Given the description of an element on the screen output the (x, y) to click on. 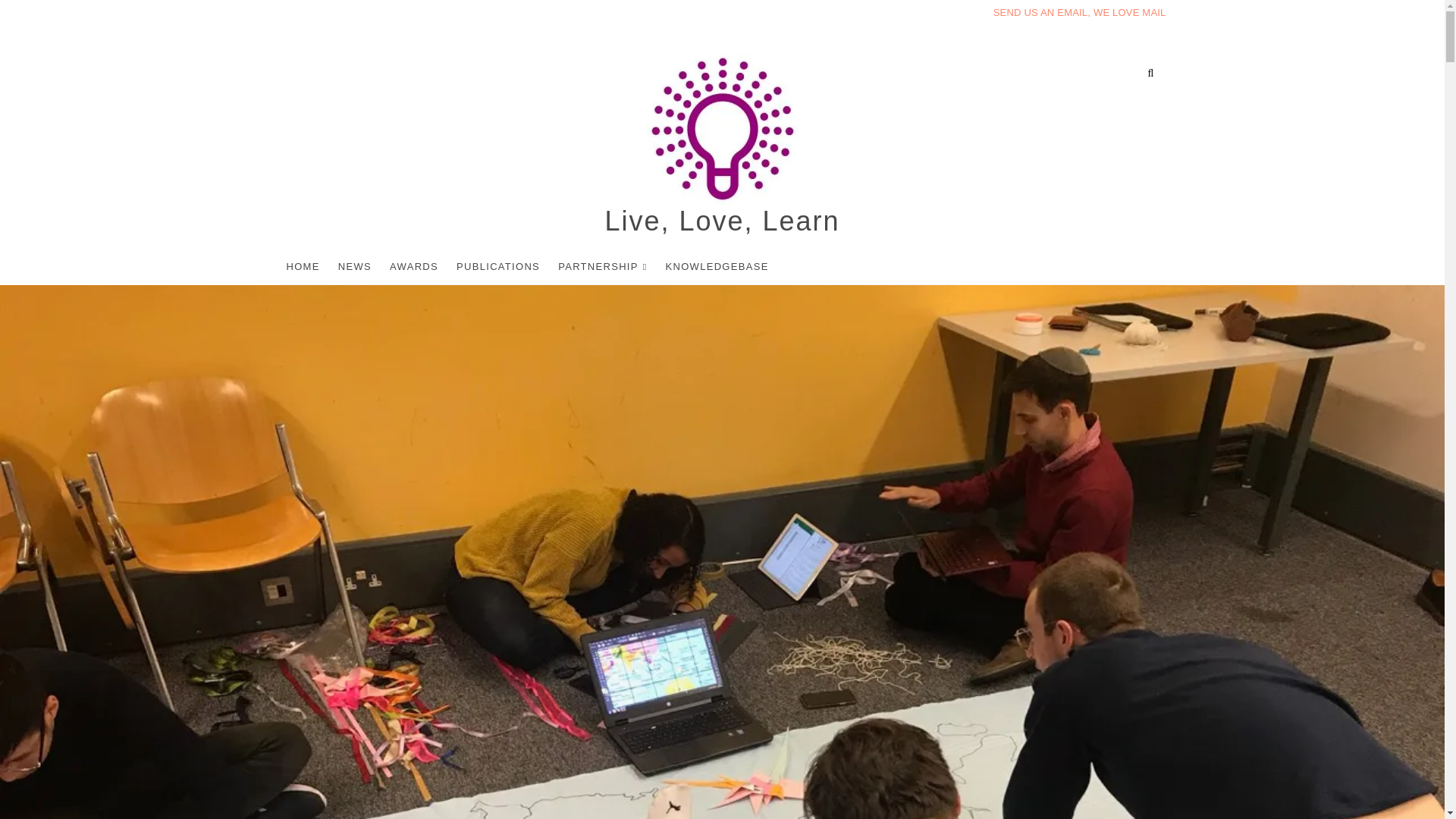
NEWS (354, 266)
PUBLICATIONS (497, 266)
KNOWLEDGEBASE (717, 266)
HOME (303, 266)
Live, Love, Learn (722, 221)
AWARDS (413, 266)
PARTNERSHIP (601, 266)
SEND US AN EMAIL, WE LOVE MAIL (1079, 12)
Live, Love, Learn (722, 221)
